Given the description of an element on the screen output the (x, y) to click on. 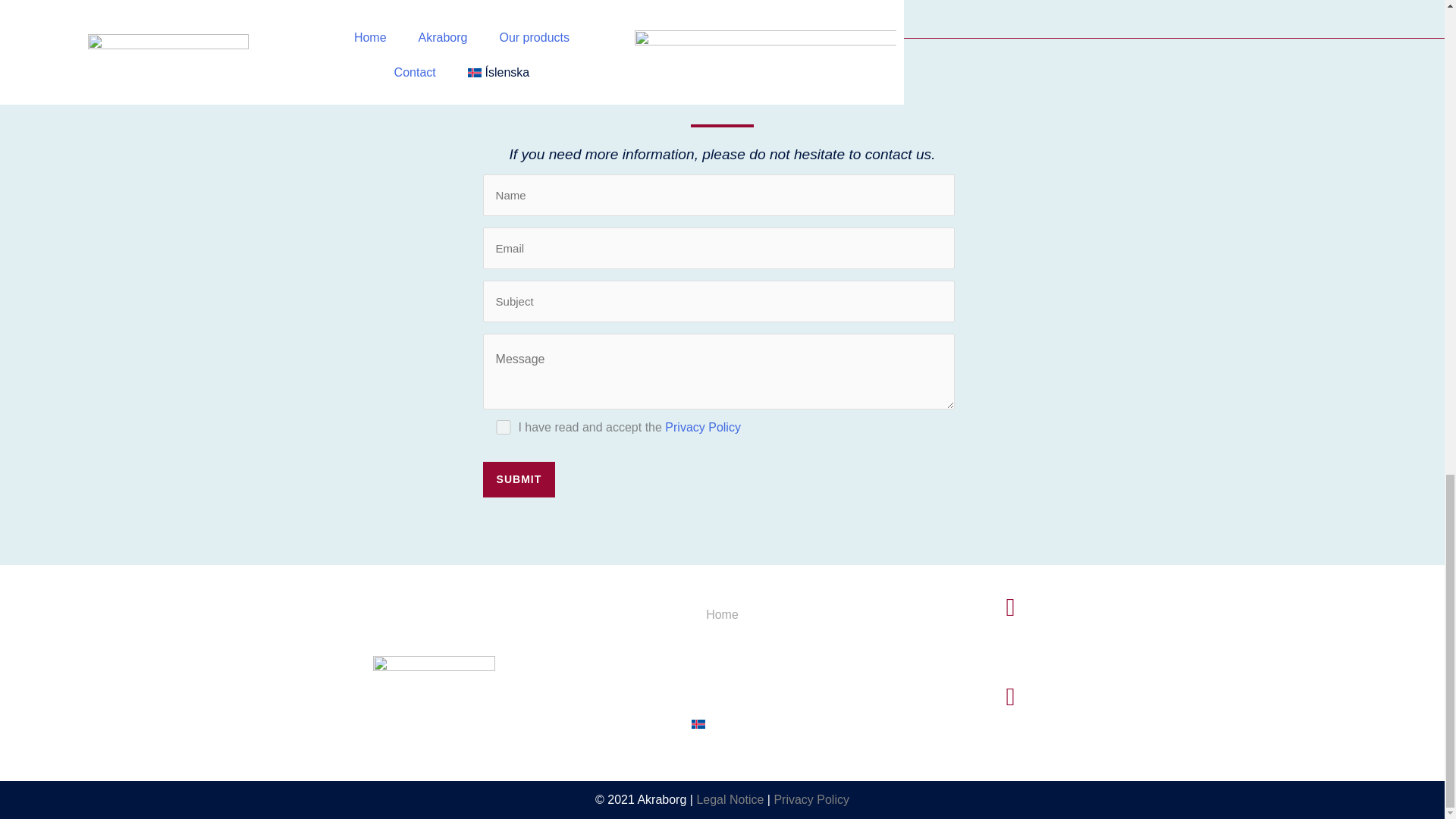
Submit (519, 479)
Home (722, 614)
Legal Notice (728, 799)
1 (503, 427)
Submit (519, 479)
Privacy Policy (703, 427)
Akraborg (722, 642)
Our products (722, 669)
Privacy Policy (810, 799)
Contact (722, 696)
